Given the description of an element on the screen output the (x, y) to click on. 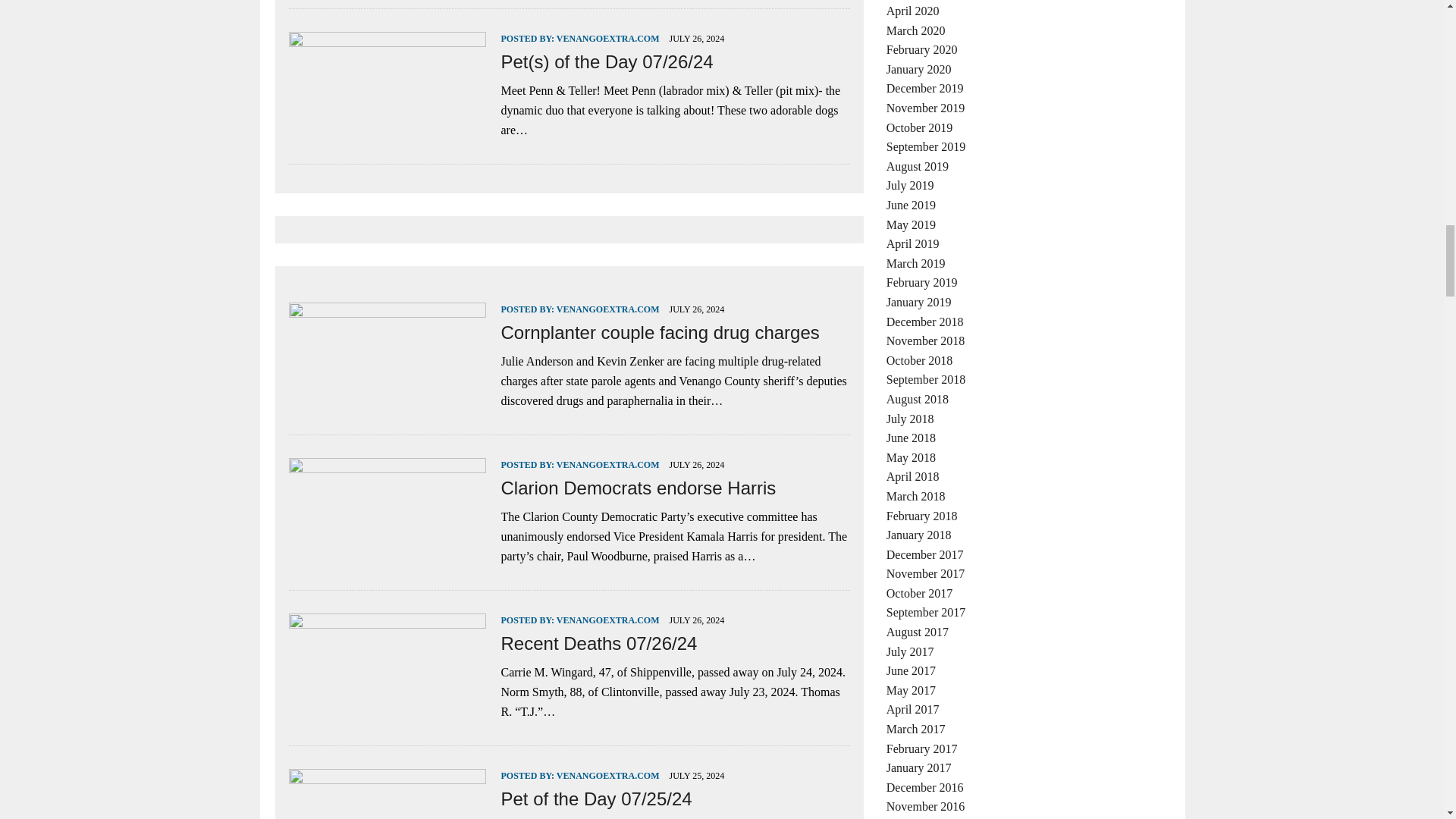
Cornplanter couple facing drug charges (386, 402)
